Given the description of an element on the screen output the (x, y) to click on. 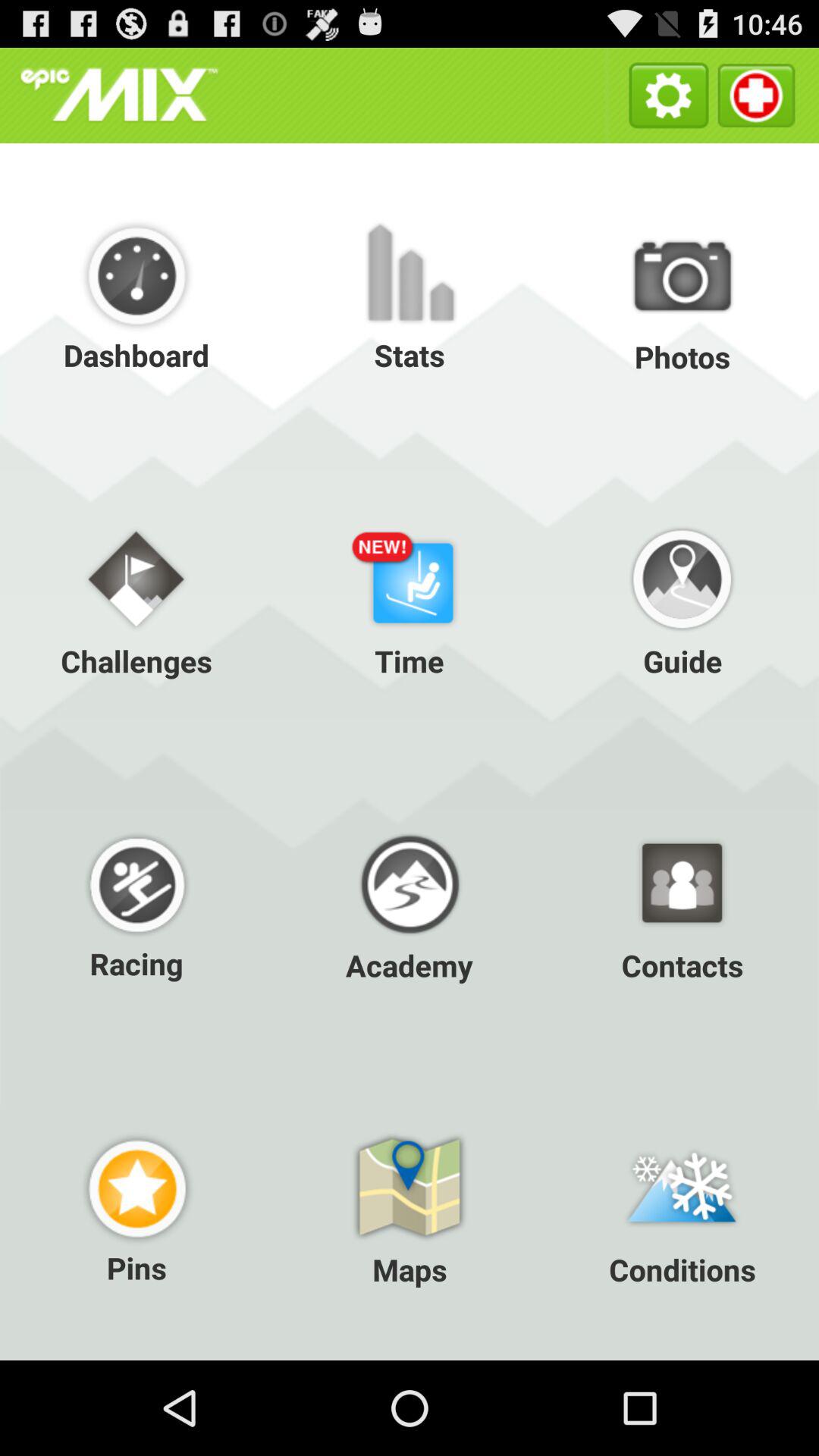
turn on the icon to the left of maps button (136, 1208)
